Given the description of an element on the screen output the (x, y) to click on. 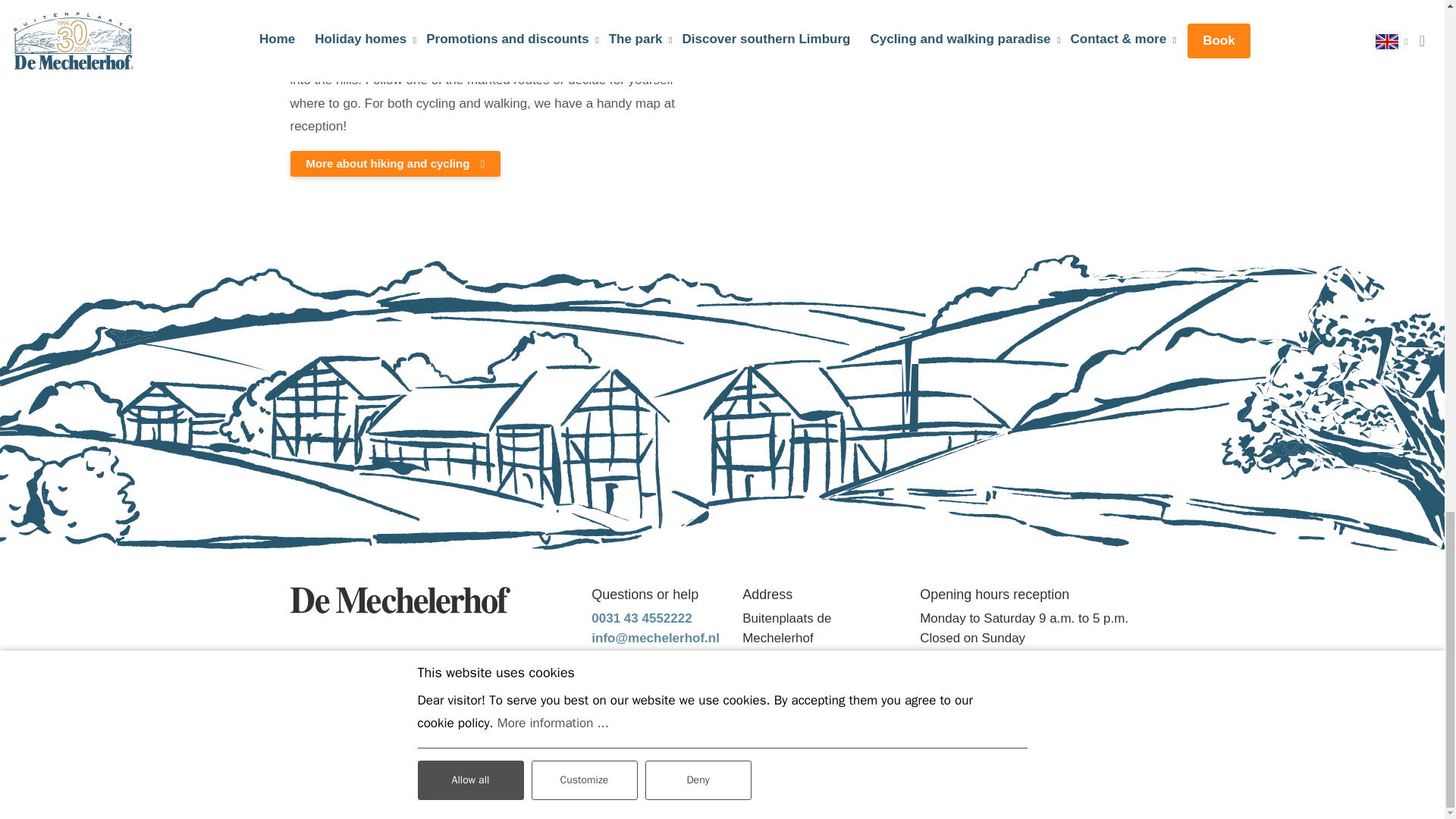
Login for owners (882, 794)
Jobs (947, 794)
Disclaimer (802, 794)
mechelerhof (399, 599)
Route (772, 715)
General Terms and Conditions (542, 794)
